Given the description of an element on the screen output the (x, y) to click on. 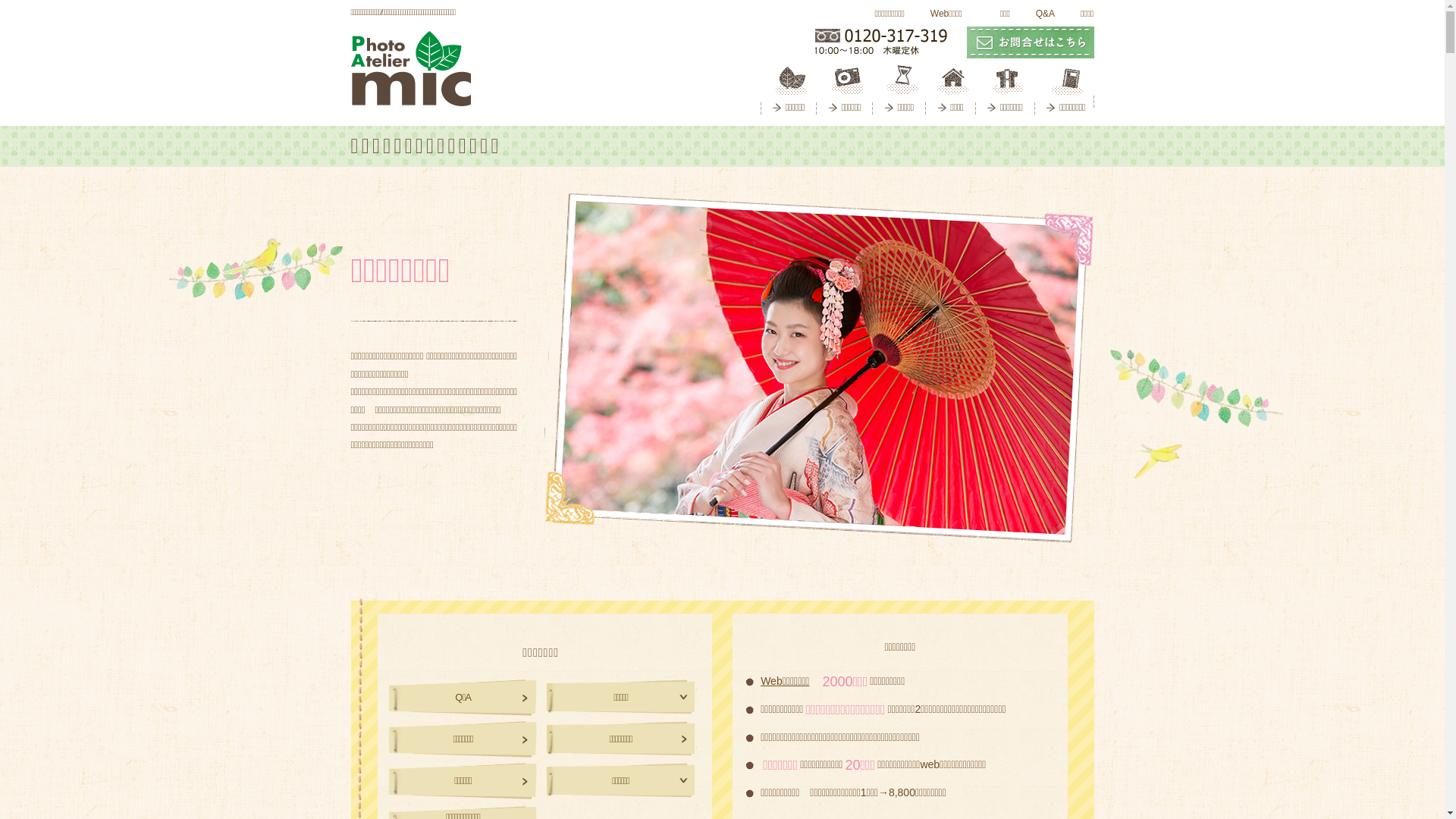
Q&A Element type: text (1041, 13)
